Given the description of an element on the screen output the (x, y) to click on. 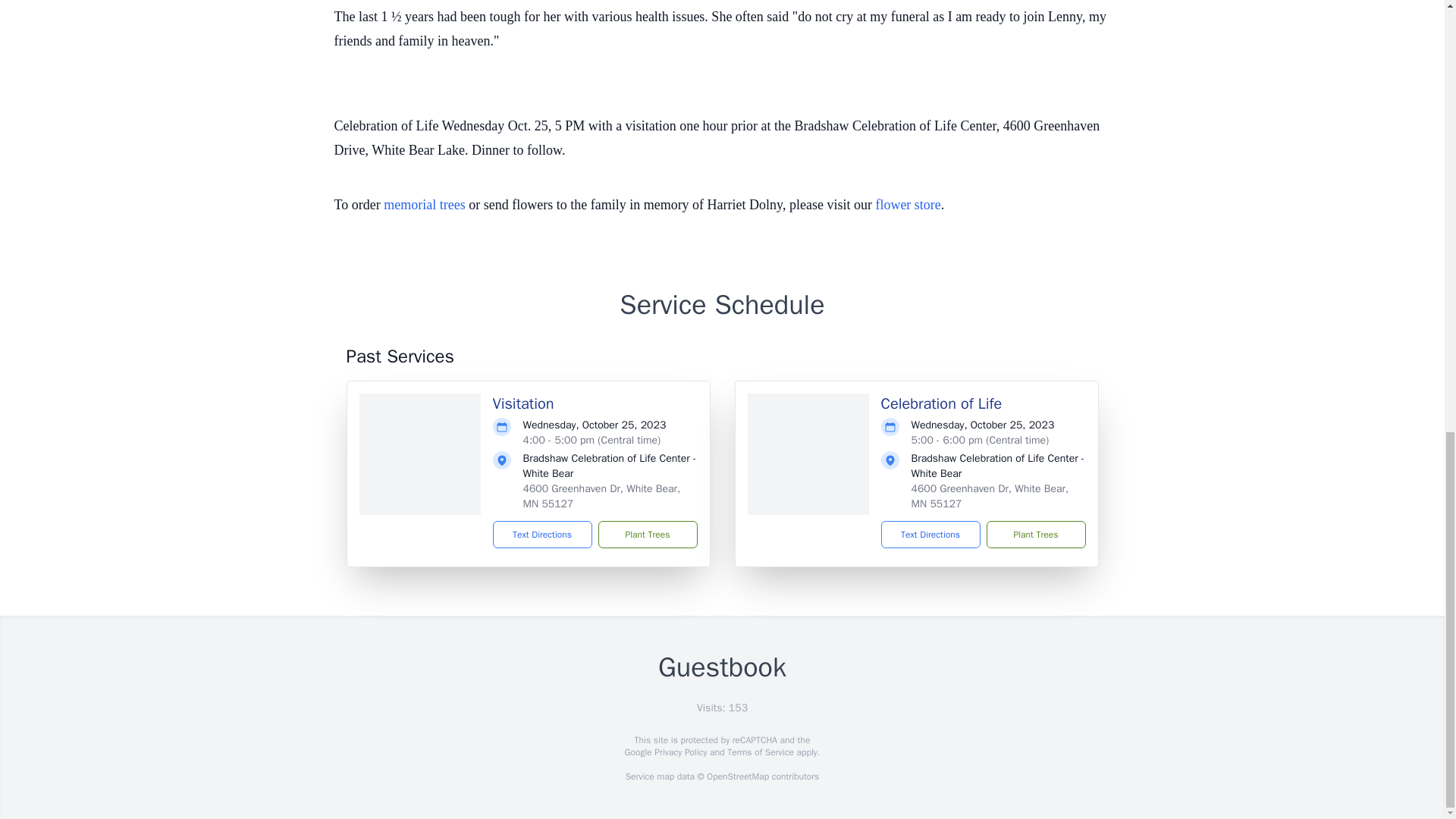
Plant Trees (646, 533)
4600 Greenhaven Dr, White Bear, MN 55127 (601, 496)
Text Directions (929, 533)
4600 Greenhaven Dr, White Bear, MN 55127 (989, 496)
Text Directions (542, 533)
Privacy Policy (679, 752)
flower store (907, 204)
Terms of Service (759, 752)
OpenStreetMap (737, 776)
Plant Trees (1034, 533)
